Given the description of an element on the screen output the (x, y) to click on. 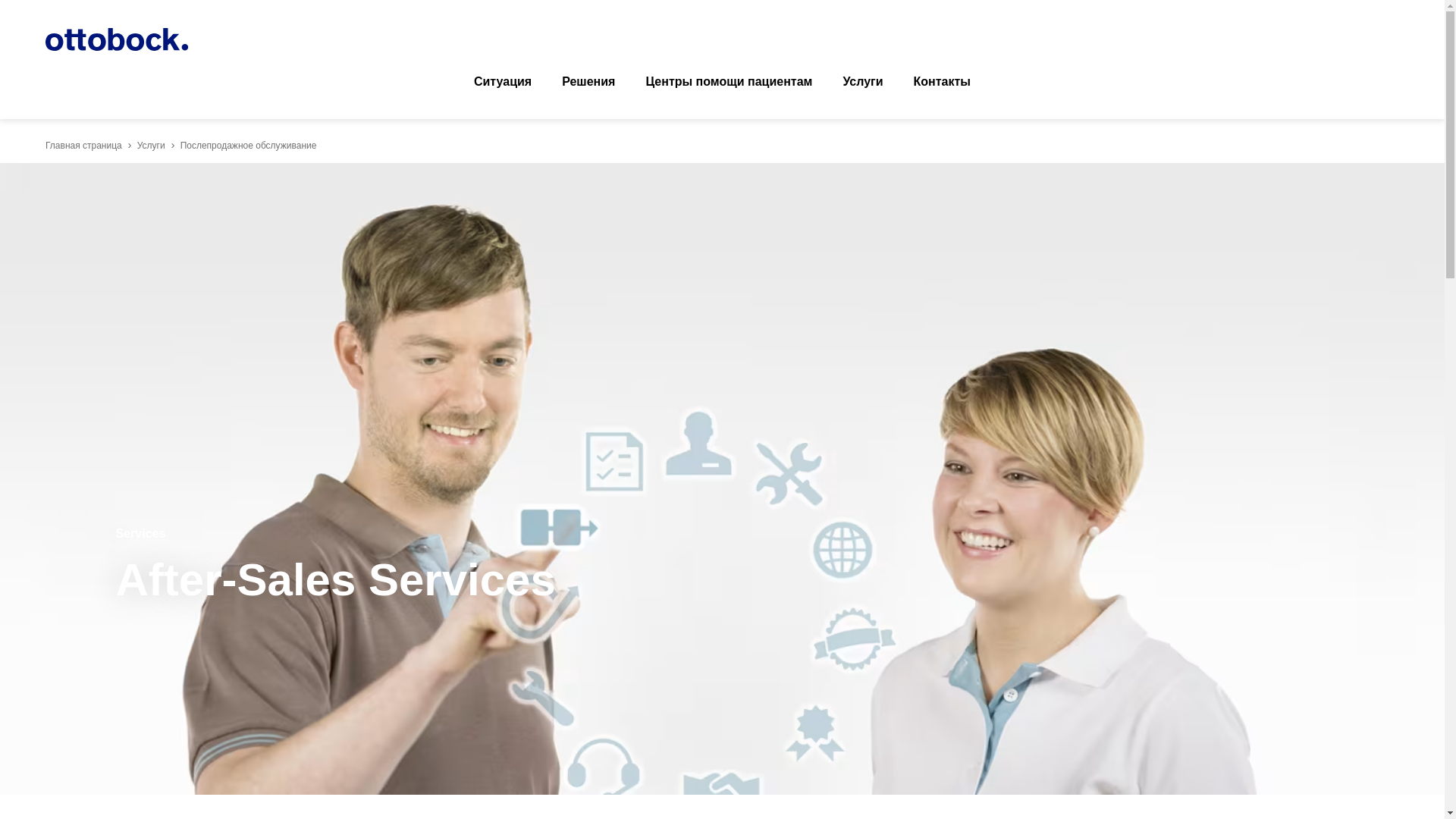
About Ottobock OBA (941, 81)
Services (862, 81)
Ottobock (117, 38)
Services (150, 145)
Solutions (588, 81)
Conditions (502, 81)
